Given the description of an element on the screen output the (x, y) to click on. 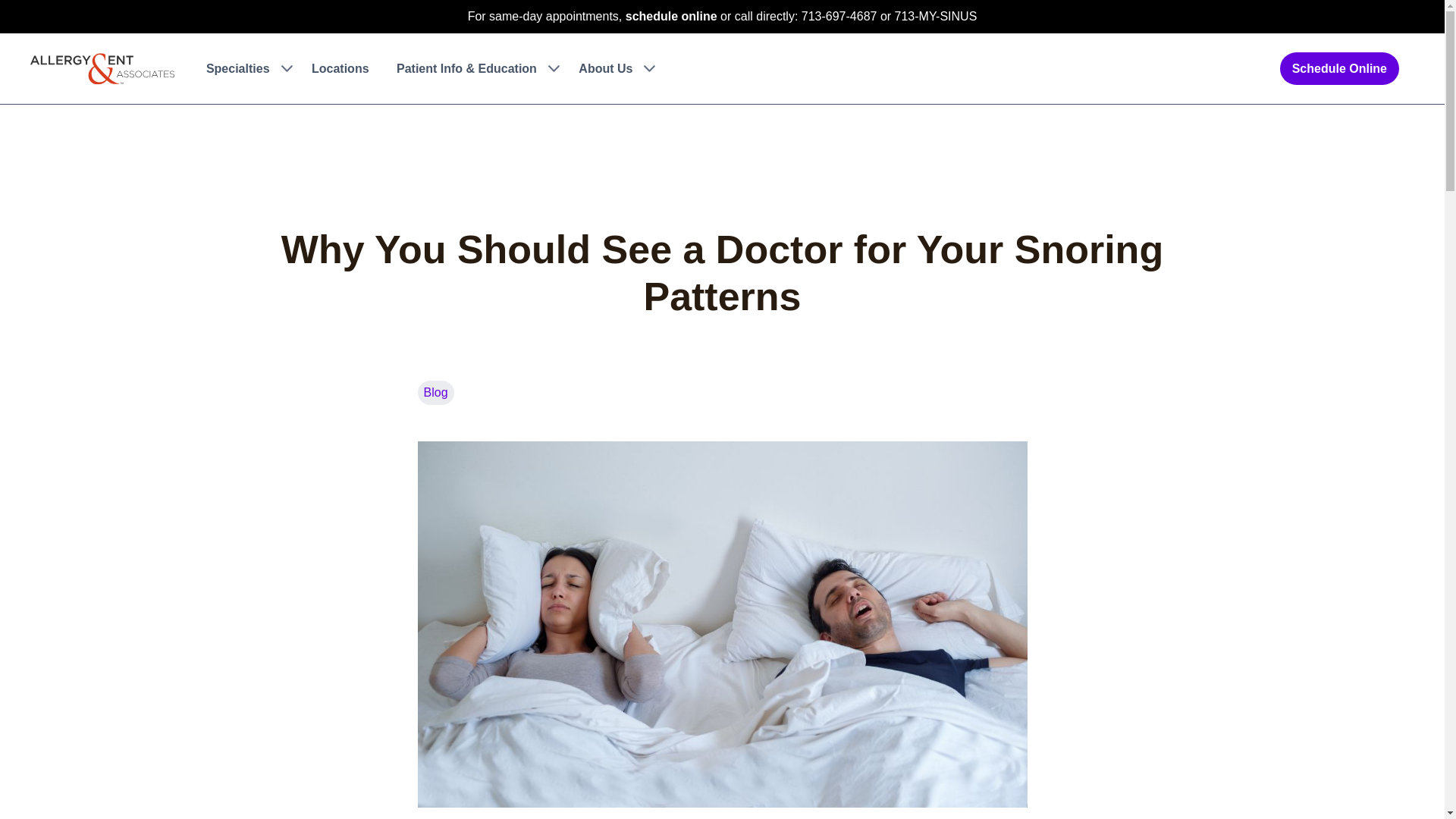
Locations (340, 68)
schedule online (671, 15)
Specialties (245, 68)
Schedule Online (1339, 68)
713-MY-SINUS (935, 15)
About Us (612, 68)
713-697-4687 (839, 15)
